Given the description of an element on the screen output the (x, y) to click on. 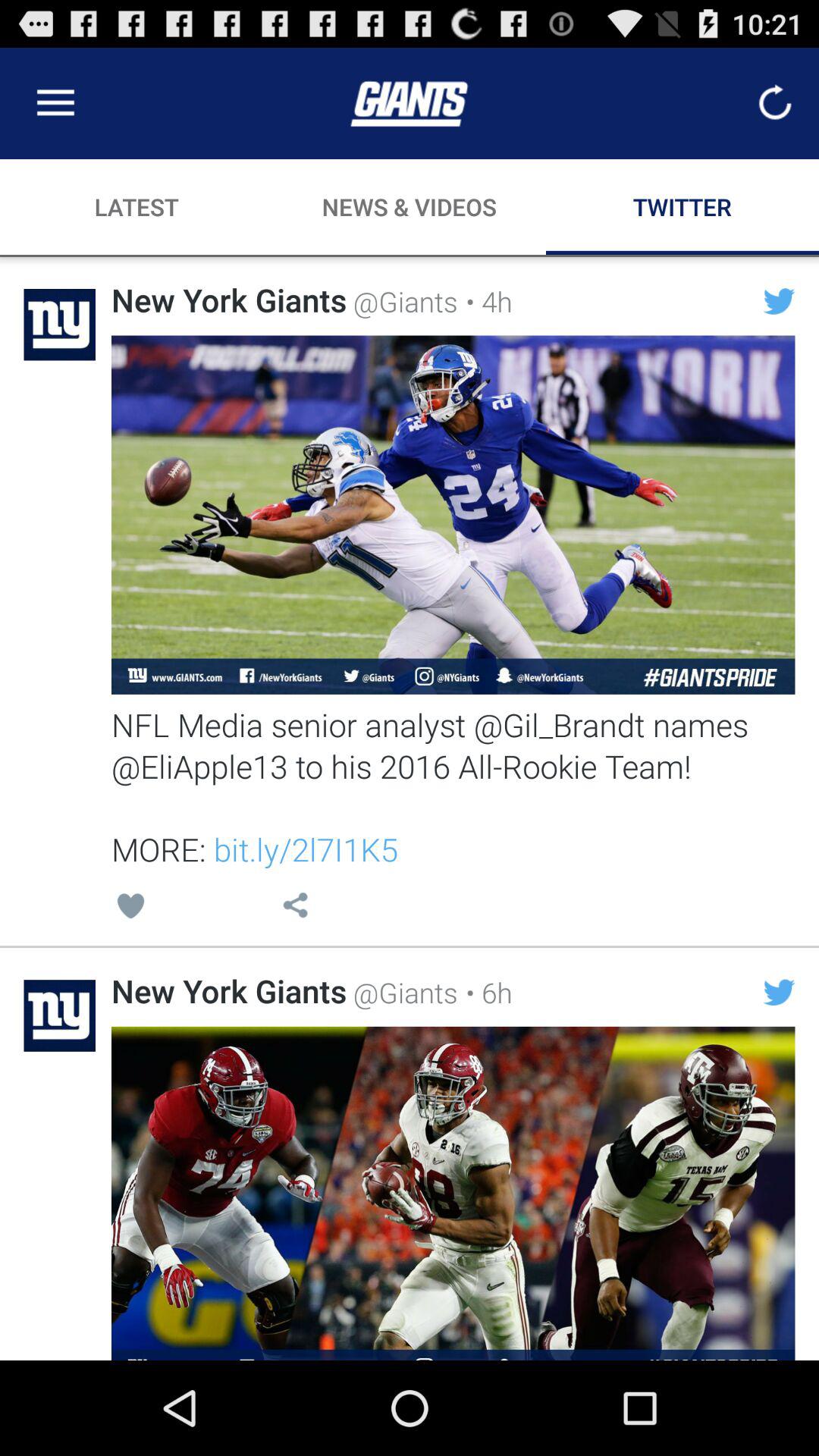
open item below the nfl media senior (131, 907)
